Given the description of an element on the screen output the (x, y) to click on. 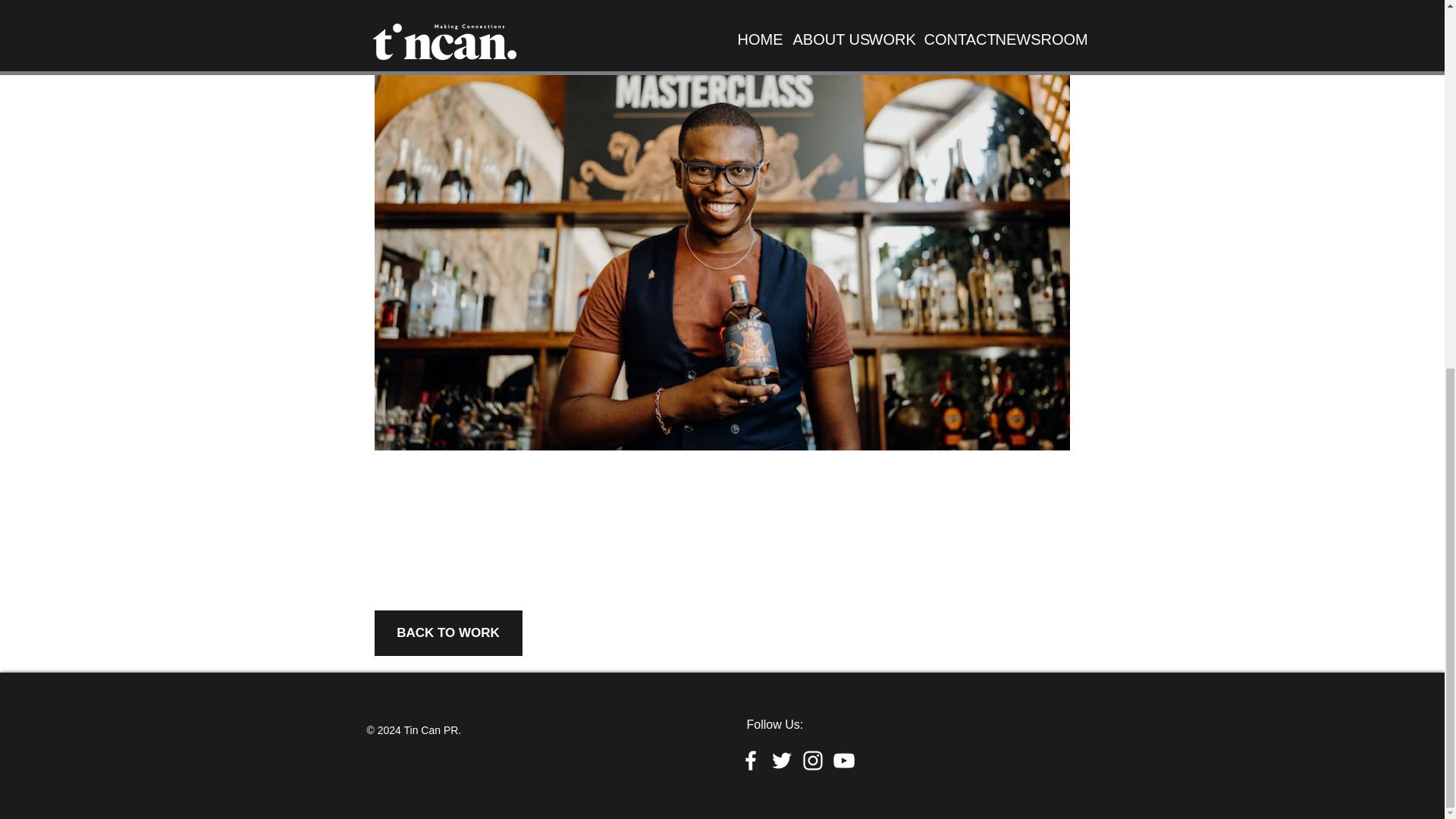
BACK TO WORK (448, 633)
